Given the description of an element on the screen output the (x, y) to click on. 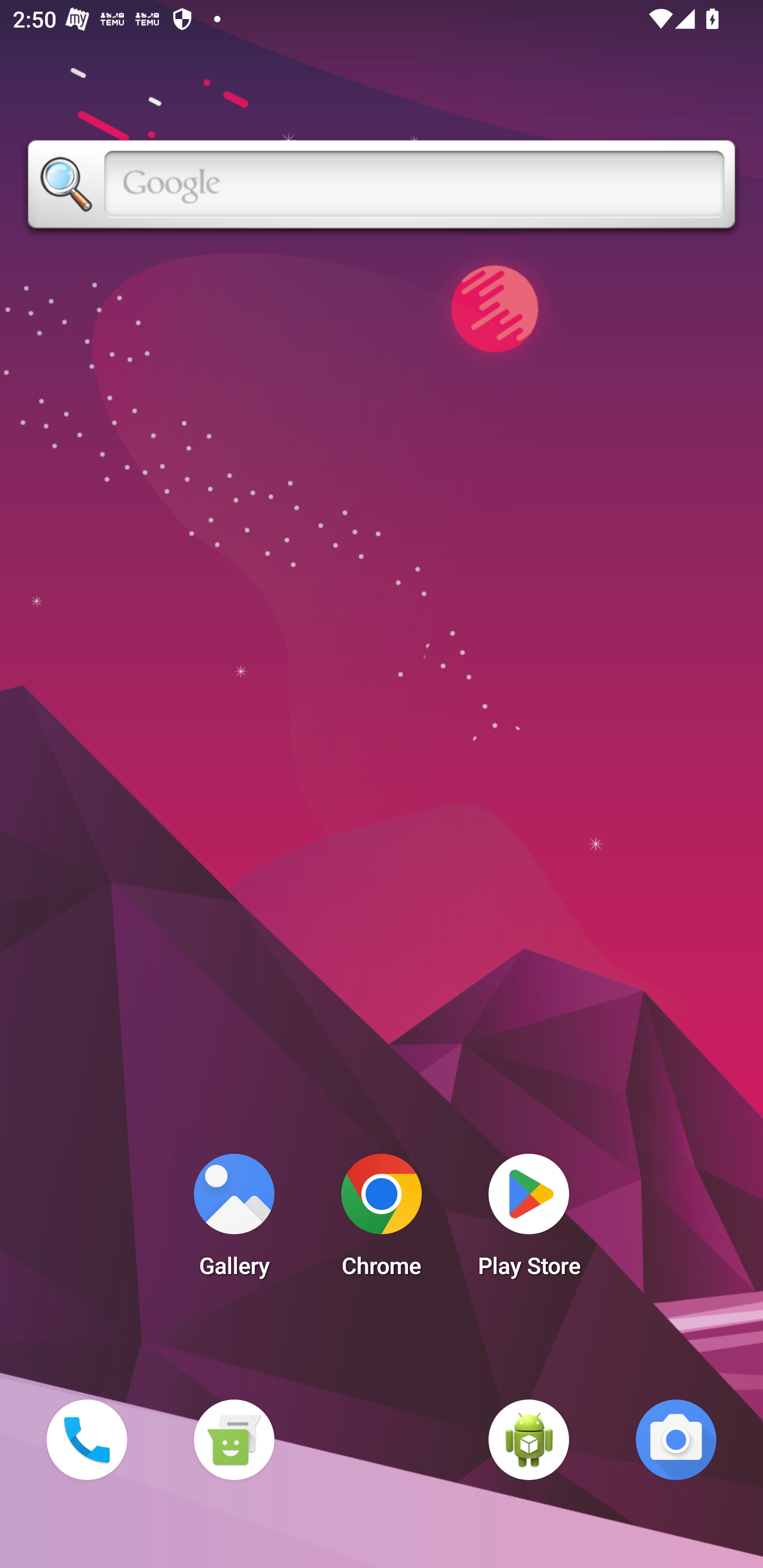
Gallery (233, 1220)
Chrome (381, 1220)
Play Store (528, 1220)
Phone (86, 1439)
Messaging (233, 1439)
WebView Browser Tester (528, 1439)
Camera (676, 1439)
